Given the description of an element on the screen output the (x, y) to click on. 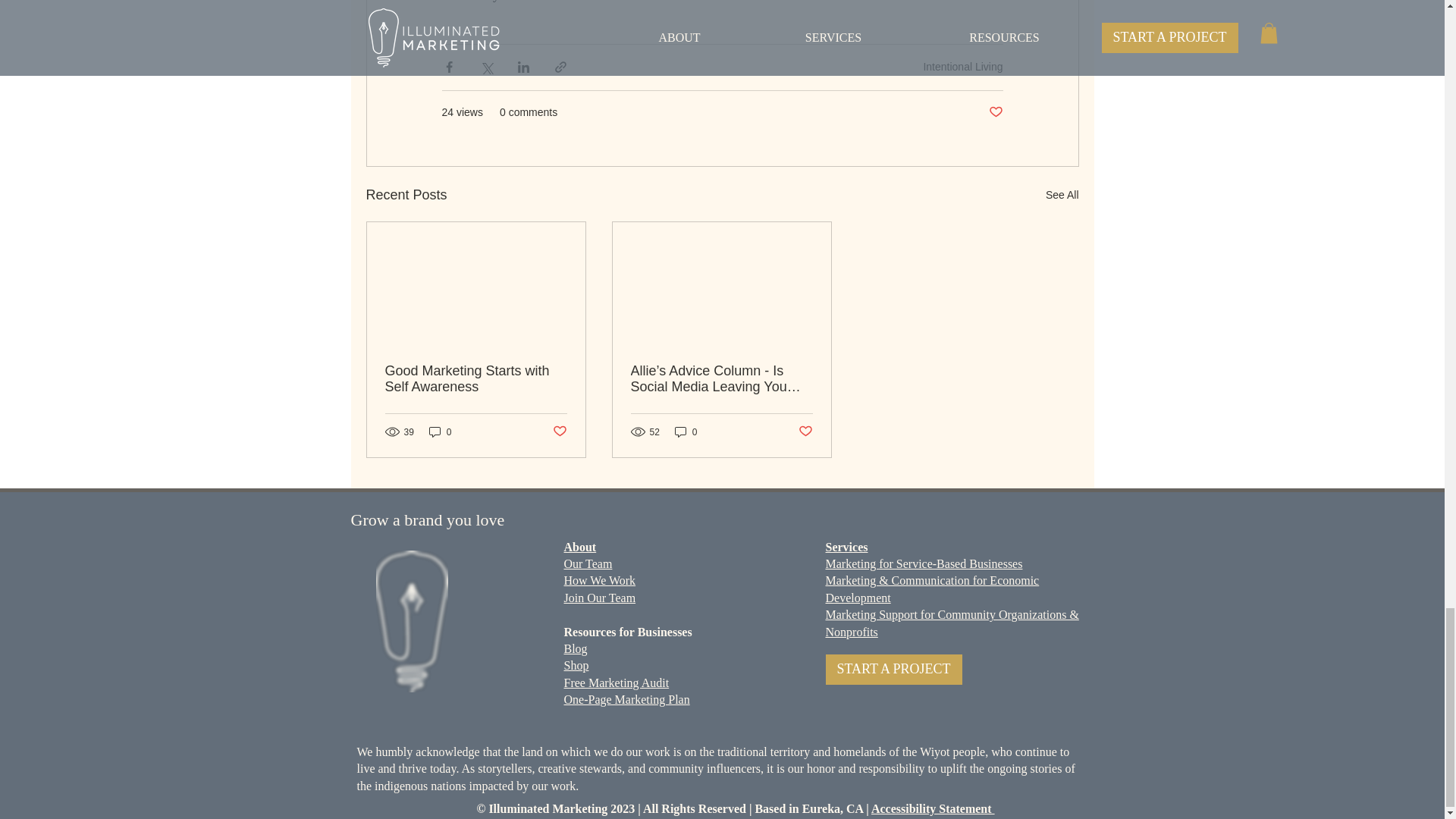
Post not marked as liked (804, 431)
Our Team (588, 563)
Intentional Living (963, 66)
About (580, 546)
Post not marked as liked (558, 431)
See All (1061, 195)
Good Marketing Starts with Self Awareness (476, 378)
How We Work (600, 580)
0 (685, 431)
0 (440, 431)
